Given the description of an element on the screen output the (x, y) to click on. 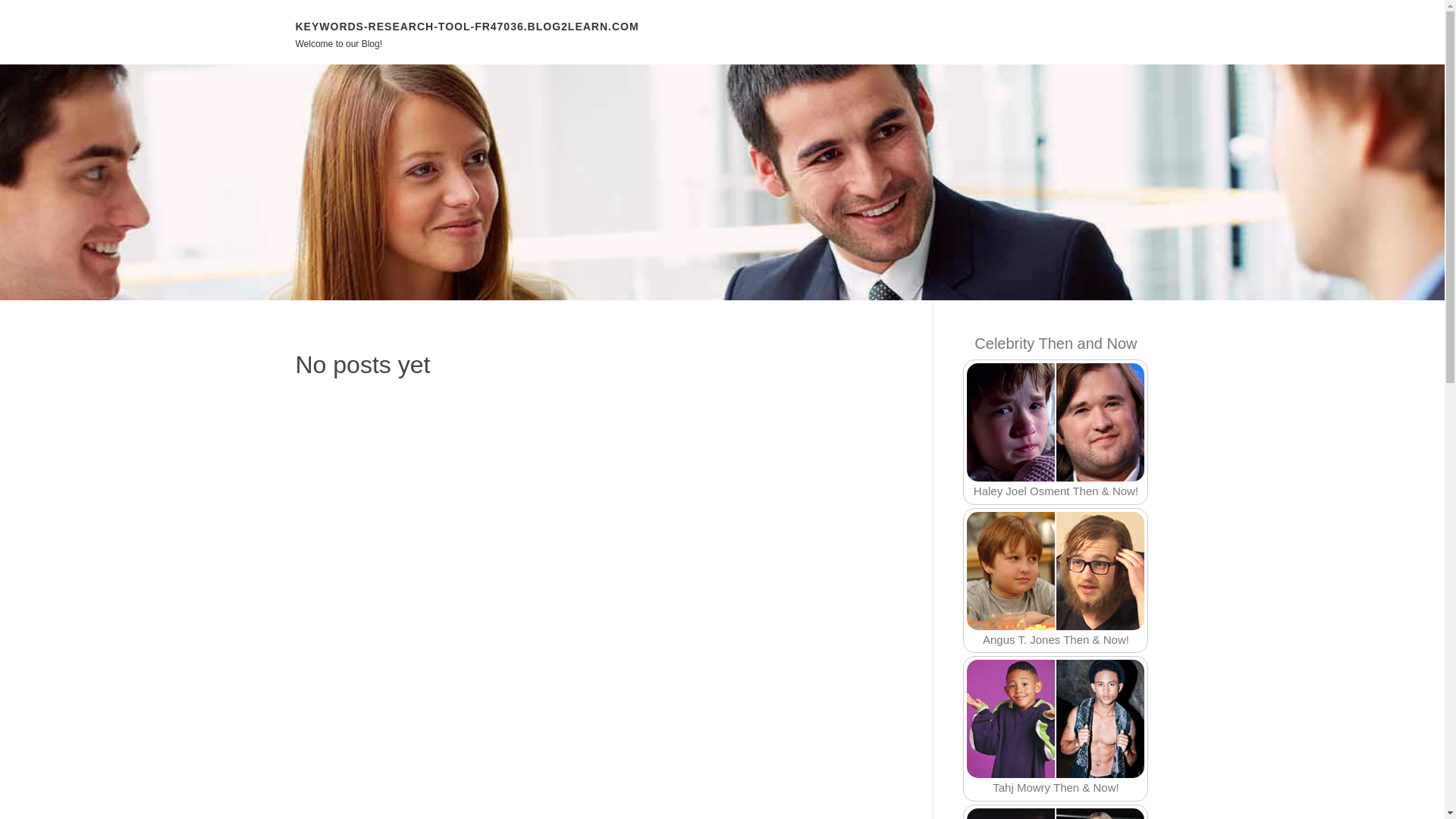
KEYWORDS-RESEARCH-TOOL-FR47036.BLOG2LEARN.COM (467, 25)
Skip to content (37, 9)
